Given the description of an element on the screen output the (x, y) to click on. 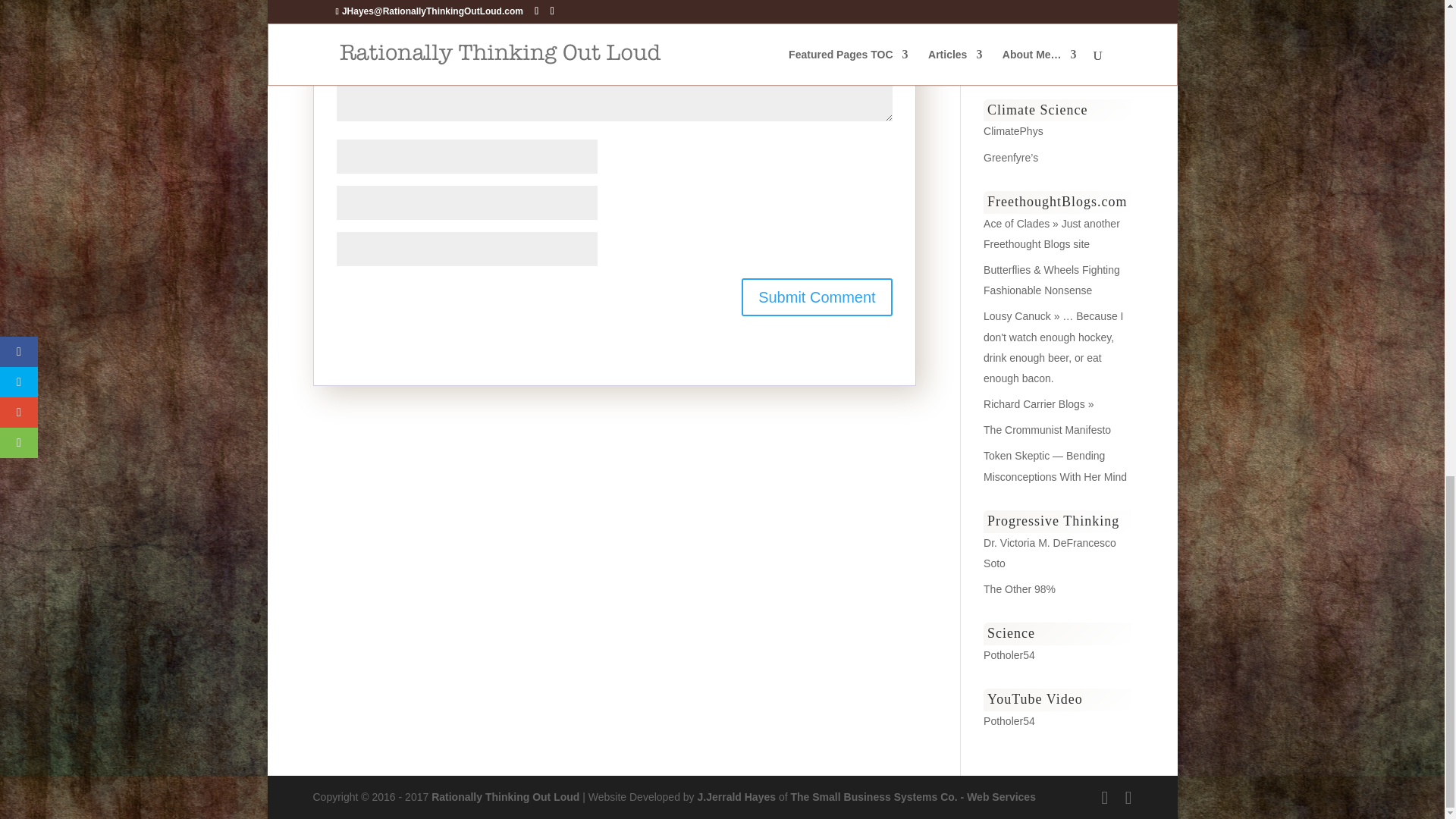
Because no banker is too big to jail. (1019, 589)
Submit Comment (816, 297)
An Analysis of Key Questions (1013, 131)
JJerraldHayes (736, 797)
Rationally Thinking Out Loud (504, 797)
